Given the description of an element on the screen output the (x, y) to click on. 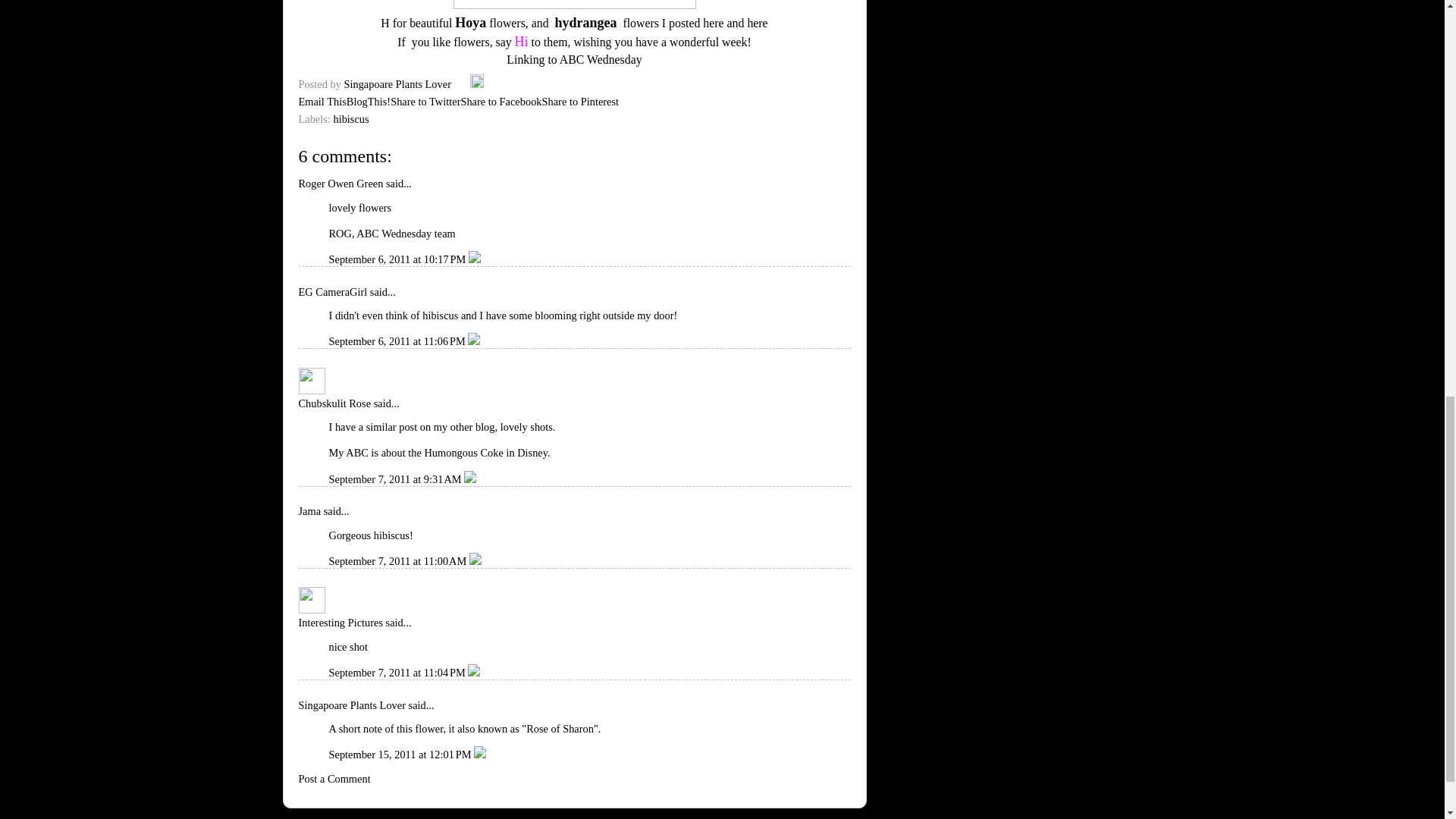
Chubskulit Rose (334, 403)
Email This (322, 101)
Share to Twitter (425, 101)
Email Post (462, 83)
Share to Twitter (425, 101)
here (756, 22)
Roger Owen Green (341, 183)
Share to Pinterest (580, 101)
